Given the description of an element on the screen output the (x, y) to click on. 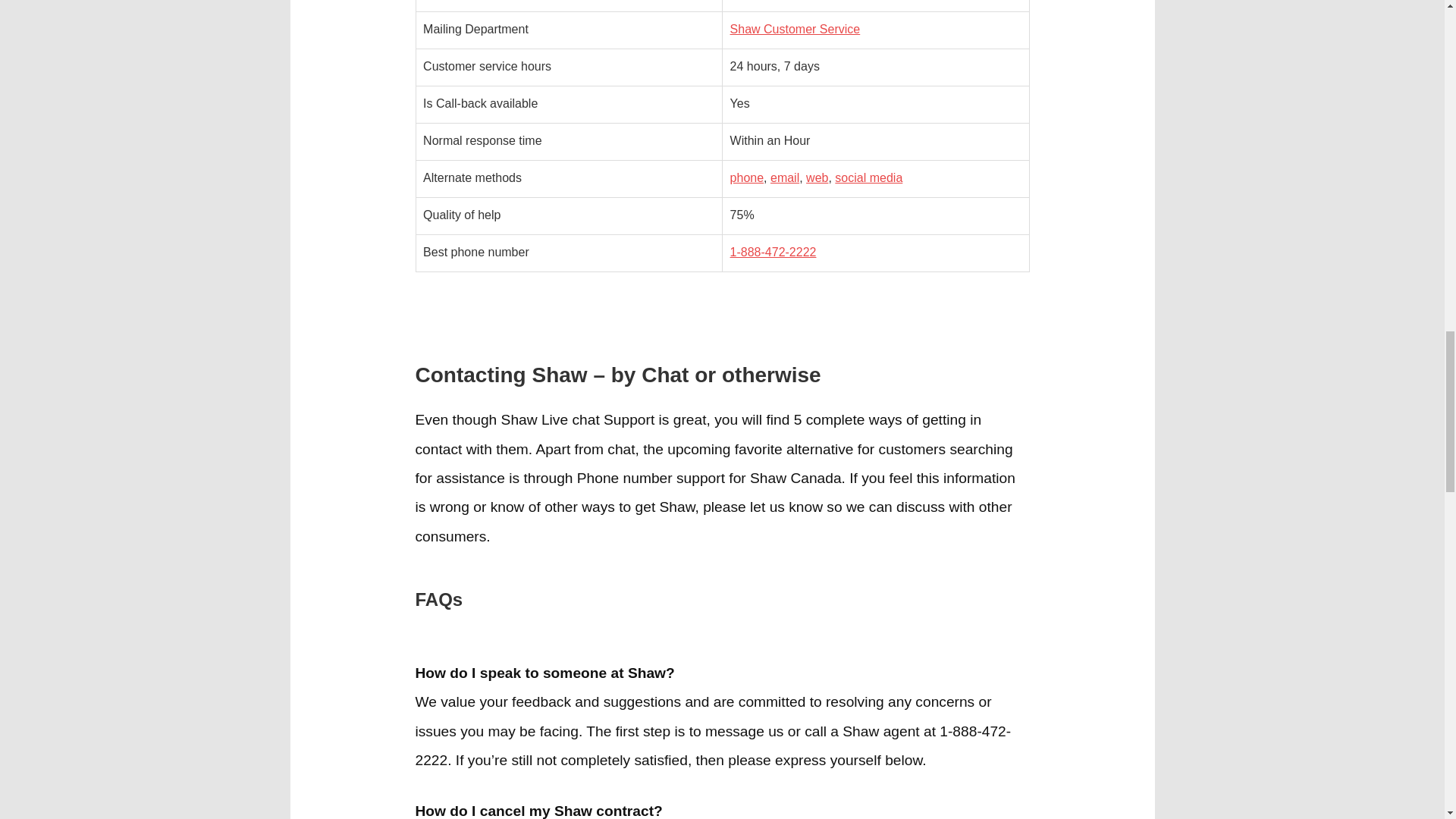
Shaw Customer Service (795, 29)
email (784, 177)
social media (868, 177)
web (817, 177)
1-888-472-2222 (773, 251)
phone (747, 177)
